Given the description of an element on the screen output the (x, y) to click on. 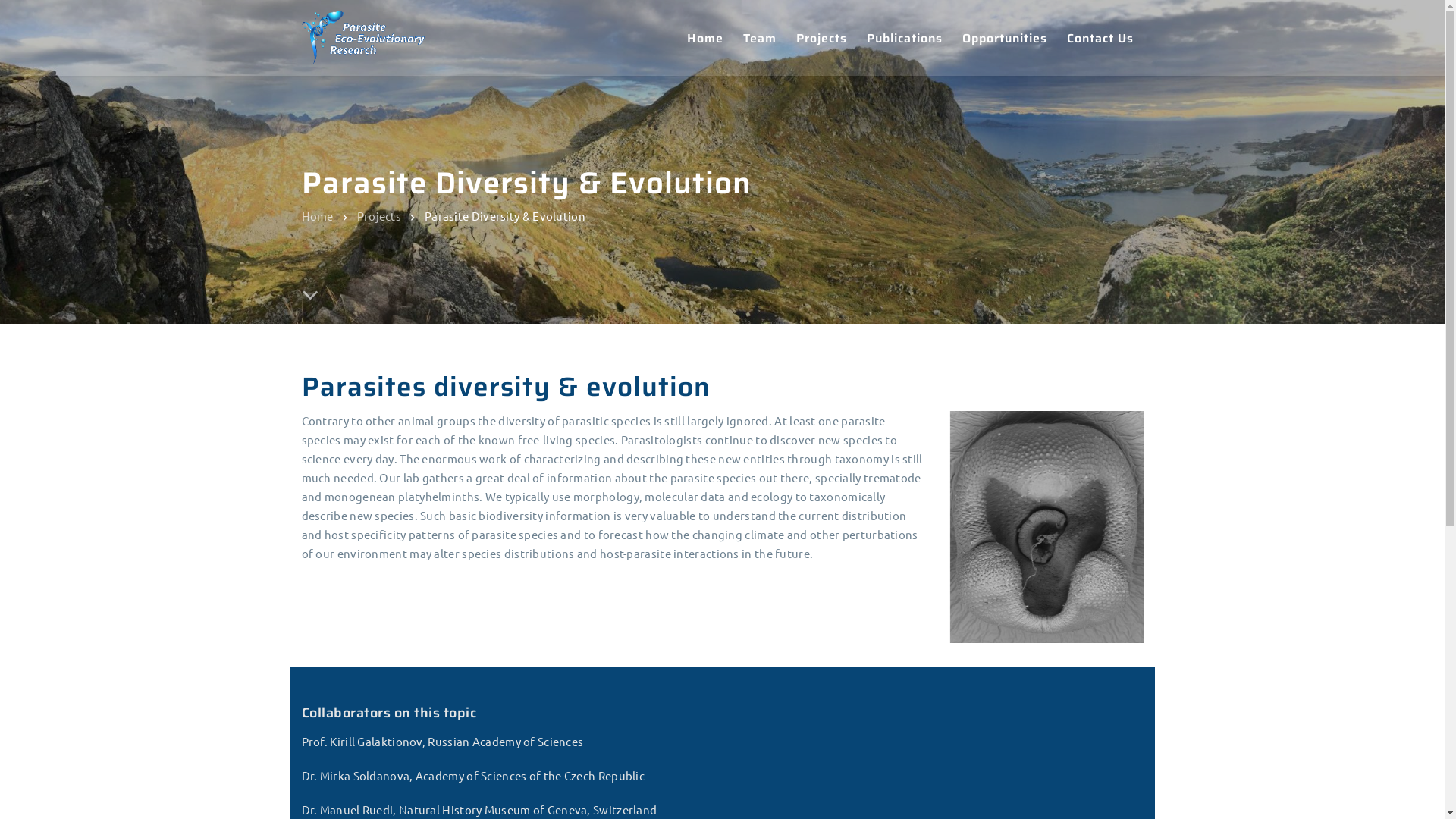
Team Element type: text (758, 37)
Contact Us Element type: text (631, 681)
Publications Element type: text (636, 653)
Opportunities Element type: text (1004, 37)
Projects Element type: text (379, 214)
Home Element type: text (317, 214)
Team Element type: text (616, 597)
Home Element type: text (618, 569)
Contact Us Element type: text (1100, 37)
route de Malagnou 1
1208 Geneva, Switzerland Element type: text (980, 645)
Natural History Museum of Geneva Element type: text (410, 592)
Projects Element type: text (820, 37)
Opportunities Element type: text (641, 709)
Projects Element type: text (624, 625)
Publications Element type: text (904, 37)
Home Element type: text (704, 37)
